Given the description of an element on the screen output the (x, y) to click on. 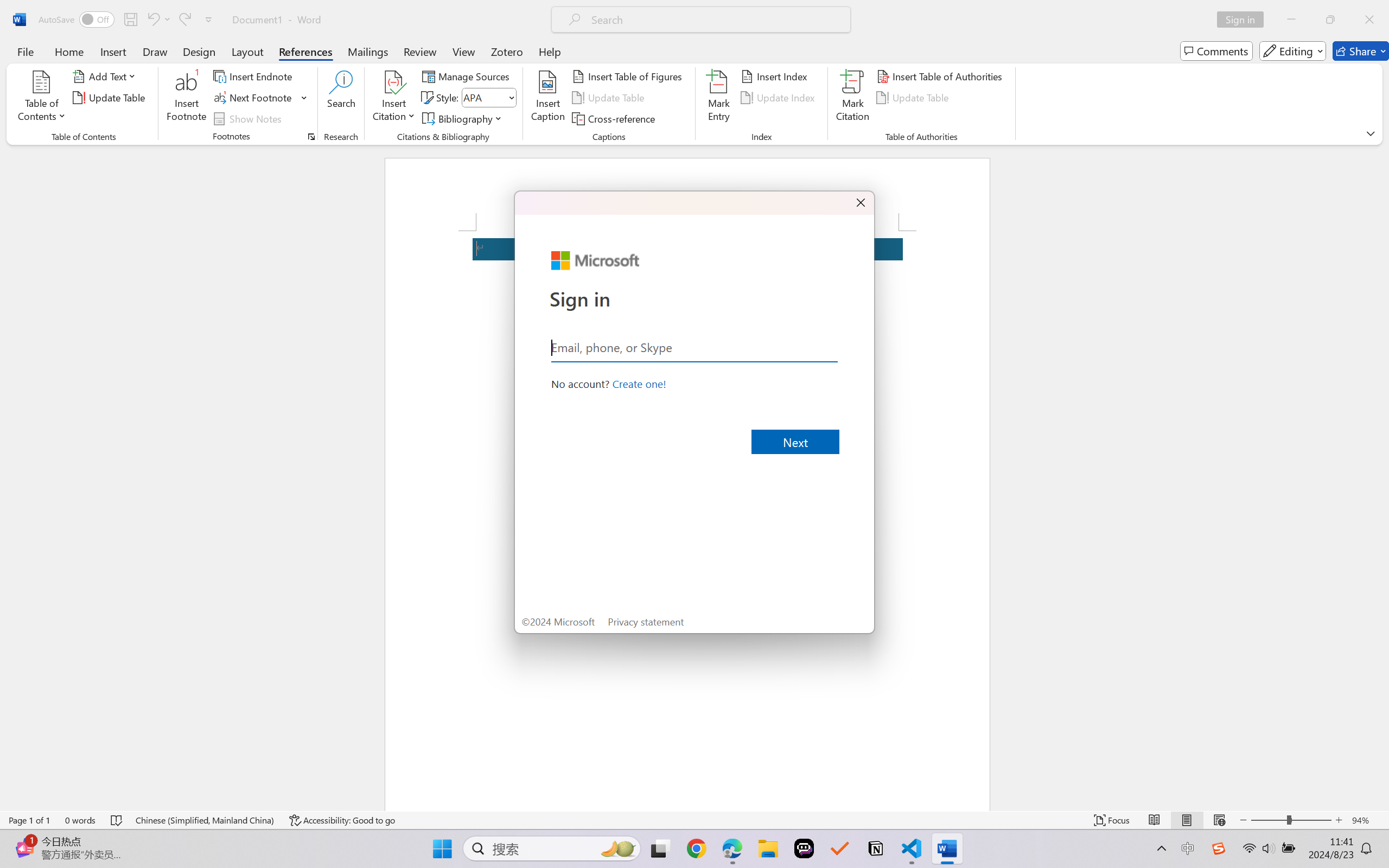
Insert Endnote (253, 75)
Insert Index... (775, 75)
Insert Table of Figures... (628, 75)
Next Footnote (260, 97)
Insert Citation (393, 97)
Editing (1292, 50)
